Given the description of an element on the screen output the (x, y) to click on. 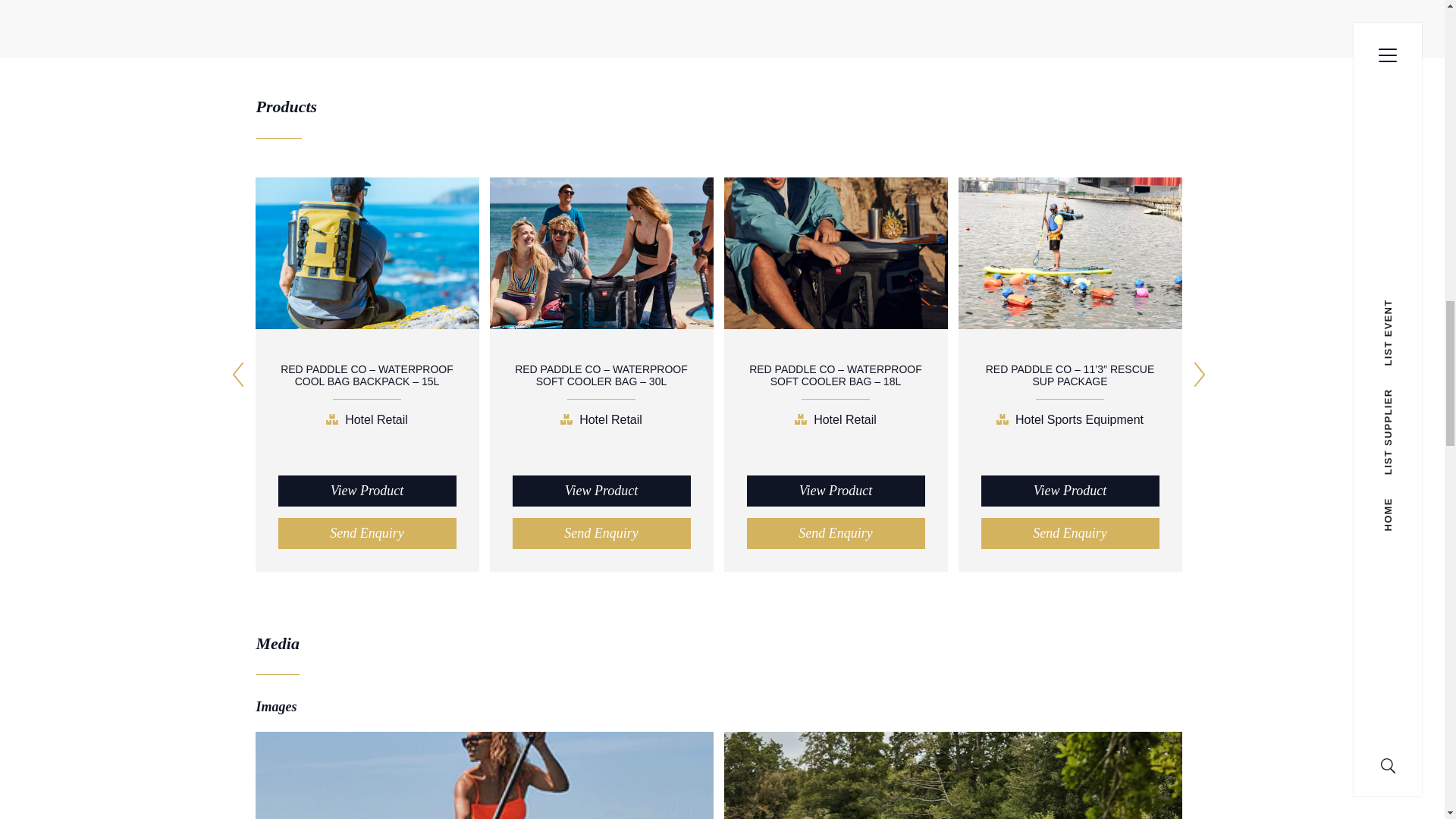
View Product (1069, 490)
View Product (601, 490)
Send Enquiry (601, 532)
Send Enquiry (366, 532)
View Product (834, 490)
View Product (366, 490)
Send Enquiry (834, 532)
Send Enquiry (1069, 532)
